Given the description of an element on the screen output the (x, y) to click on. 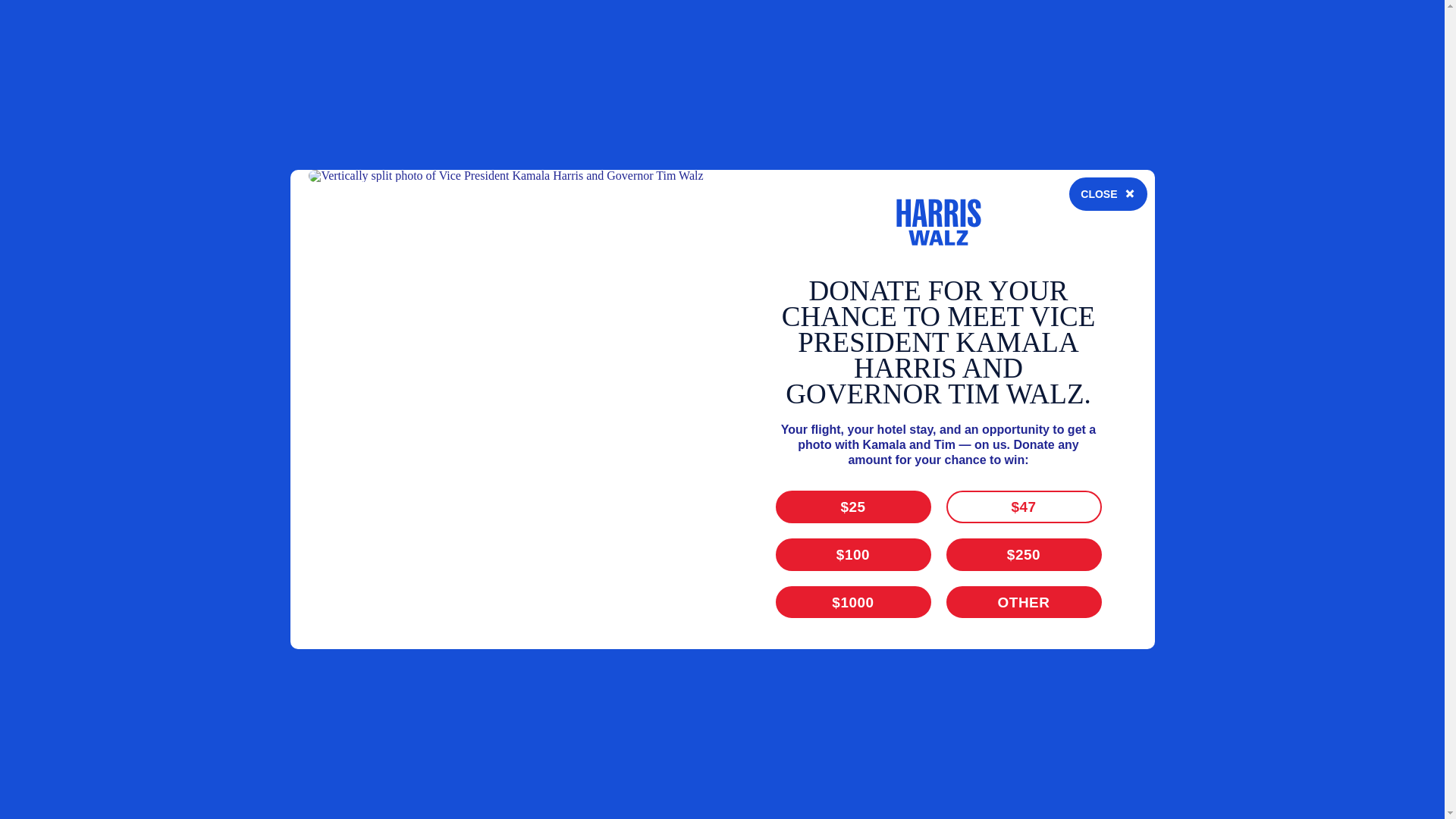
Take Action (934, 226)
Events (1005, 226)
DONATE (1154, 225)
Store (1057, 226)
Meet Kamala Harris (720, 226)
OTHER (1049, 61)
Meet Tim Walz (839, 226)
